Given the description of an element on the screen output the (x, y) to click on. 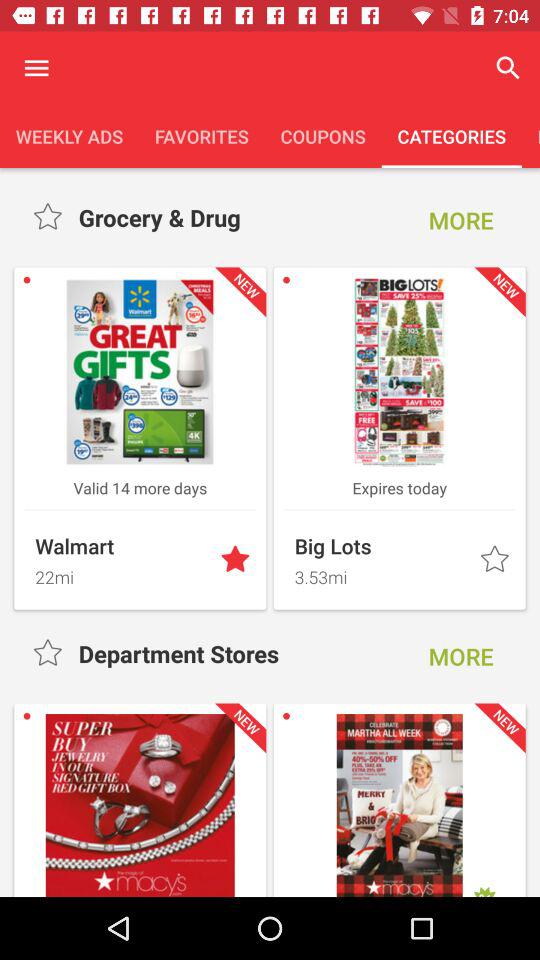
go to action dots (36, 68)
